Given the description of an element on the screen output the (x, y) to click on. 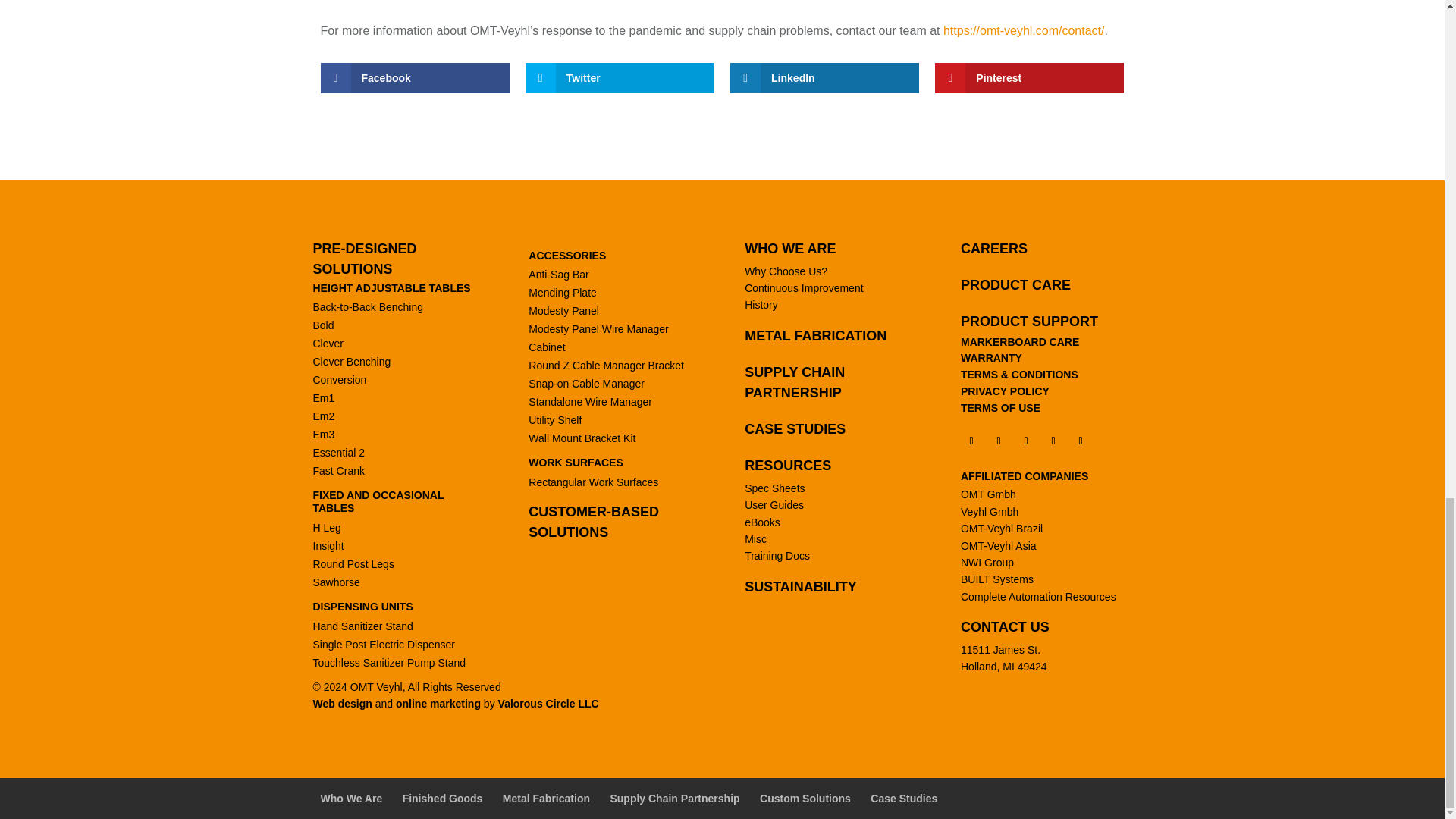
Follow on Instagram (998, 441)
Follow on Pinterest (1080, 441)
Follow on X (1053, 441)
Follow on LinkedIn (1025, 441)
Proven Successful Online Marketing (438, 703)
Grand Rapids Web Design (342, 703)
Facebook (414, 78)
Pinterest (1029, 78)
Twitter (619, 78)
LinkedIn (824, 78)
Grand Rapids Website Design (547, 703)
Follow on Facebook (970, 441)
